Given the description of an element on the screen output the (x, y) to click on. 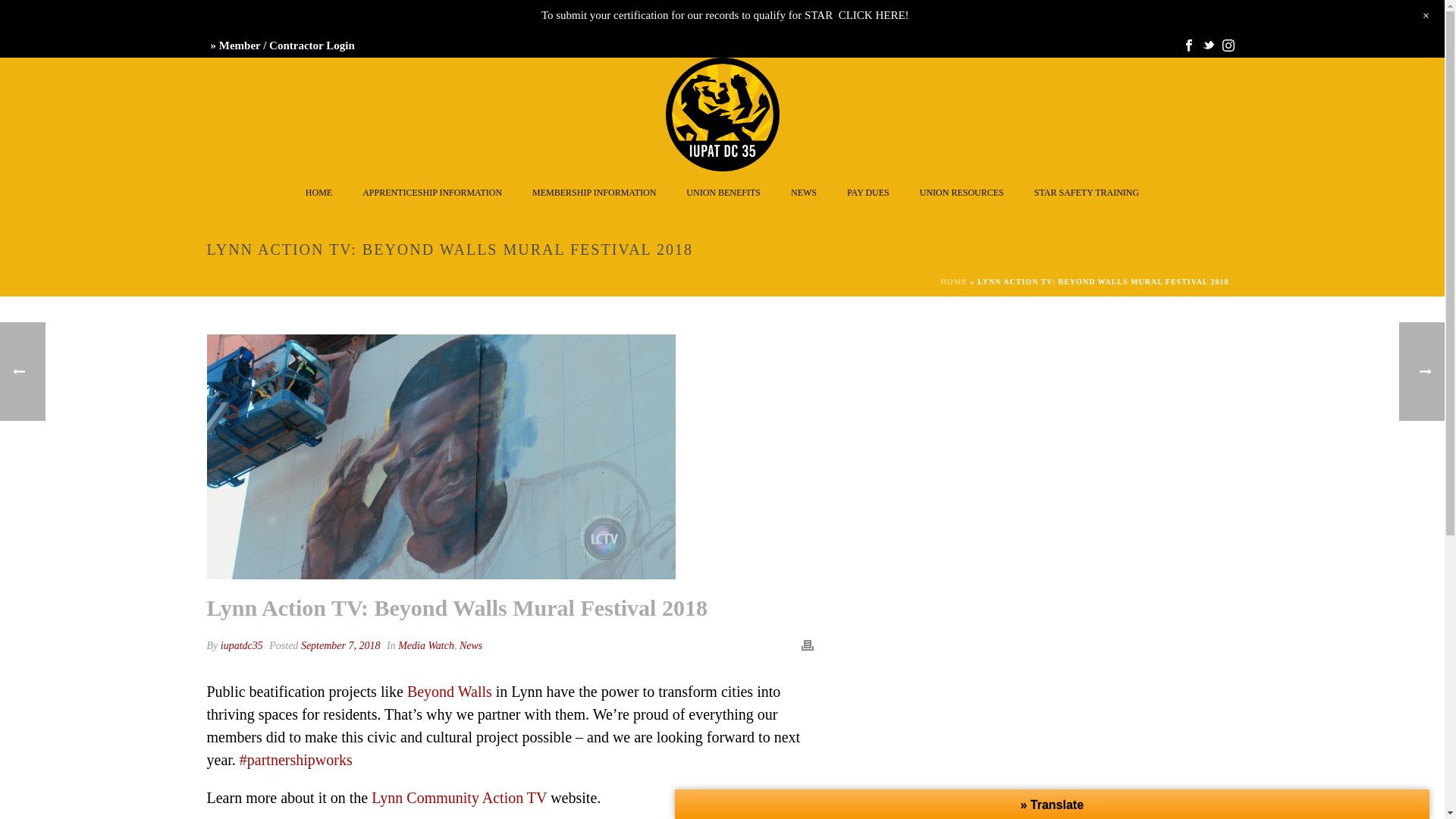
HOME (318, 191)
Print (806, 643)
STAR SAFETY TRAINING (1086, 191)
UNION BENEFITS (723, 191)
APPRENTICESHIP INFORMATION (431, 191)
HOME (318, 191)
Lynn Action TV: Beyond Walls Mural Festival 2018 (440, 456)
Posts by iupatdc35 (242, 645)
Media Watch (425, 645)
MEMBERSHIP INFORMATION (593, 191)
MEMBERSHIP INFORMATION (593, 191)
UNION RESOURCES (961, 191)
HOME (954, 281)
APPRENTICESHIP INFORMATION (431, 191)
